Given the description of an element on the screen output the (x, y) to click on. 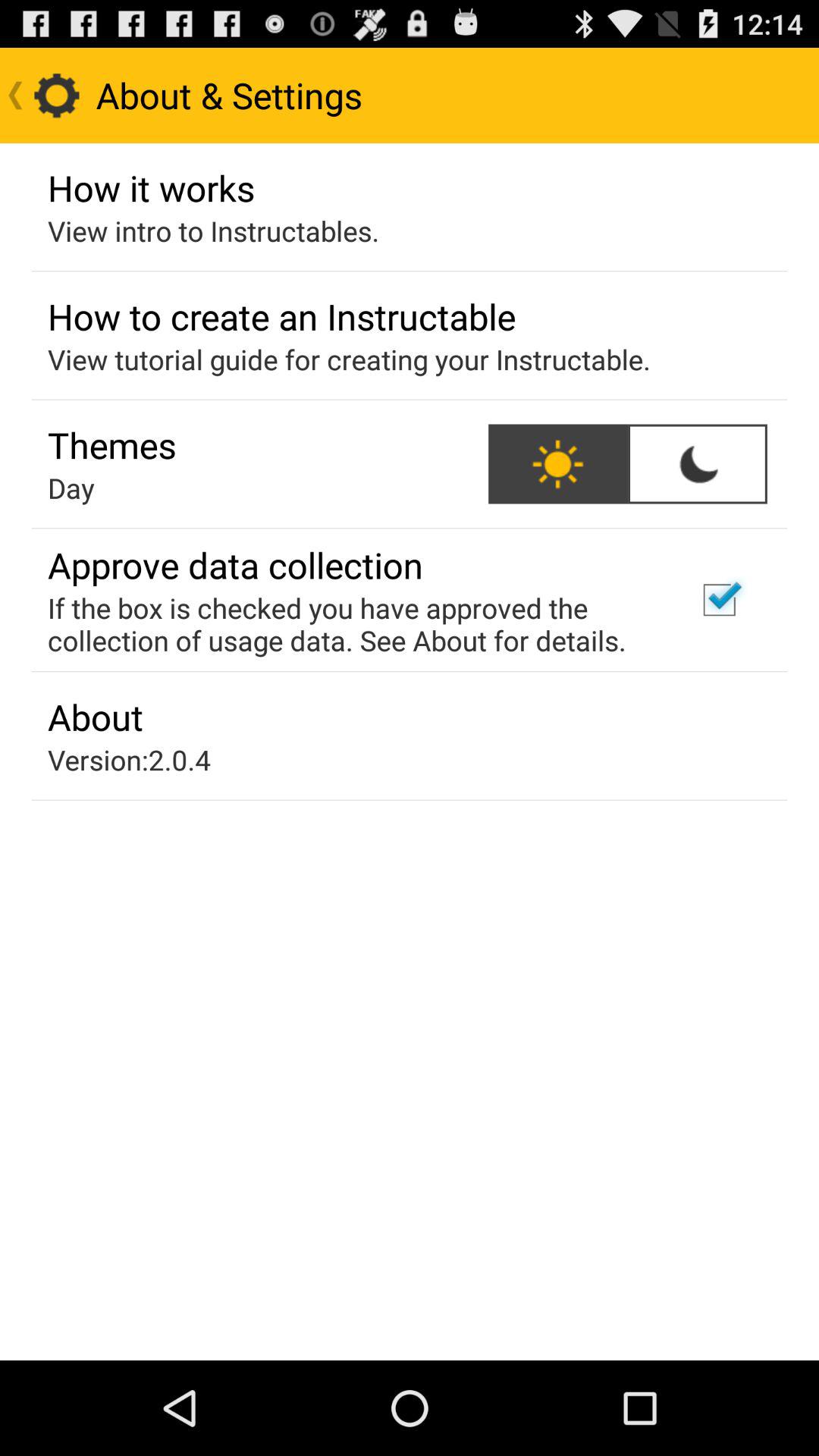
press item above the view tutorial guide icon (281, 316)
